Given the description of an element on the screen output the (x, y) to click on. 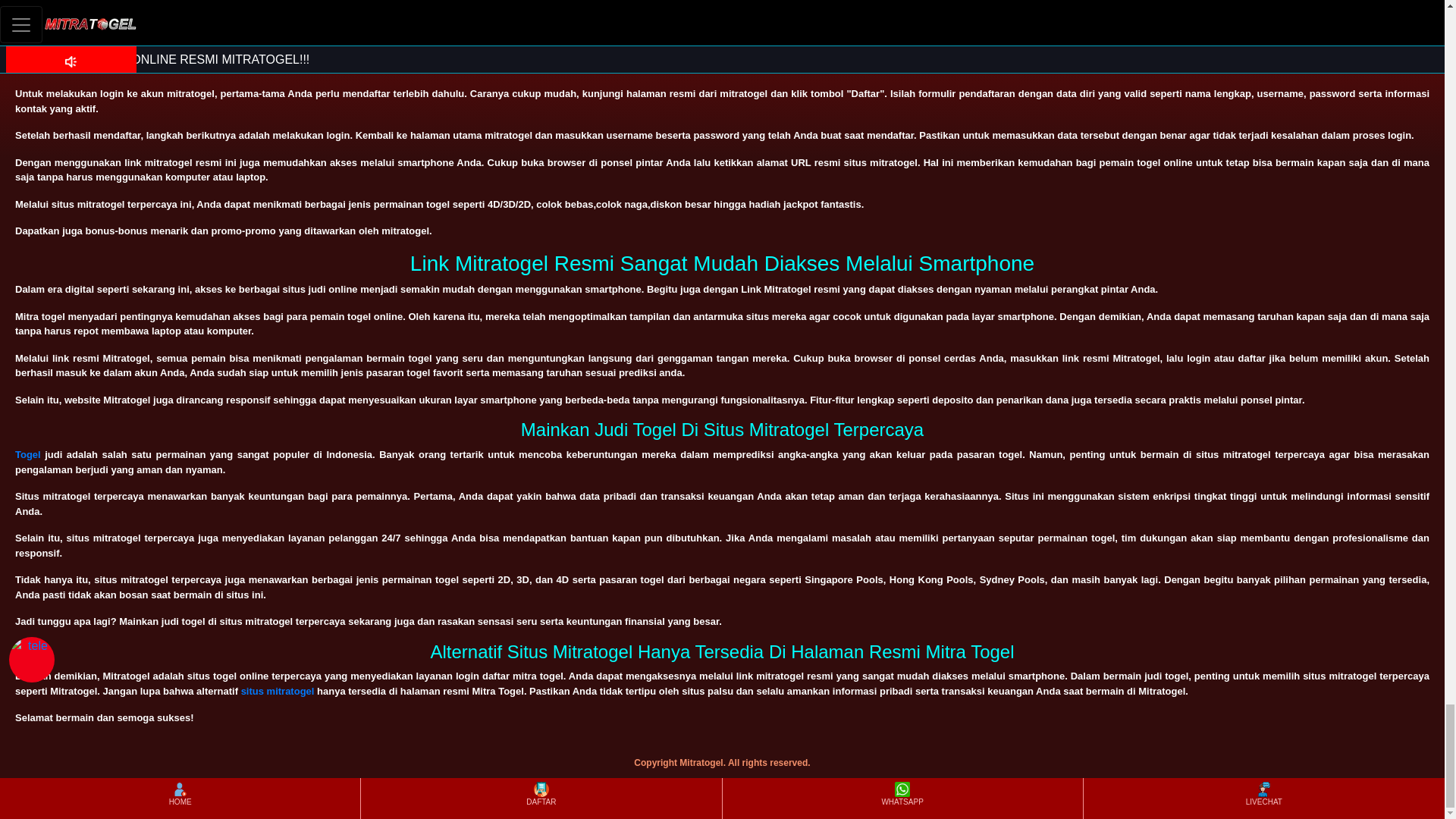
situs mitratogel (277, 690)
Togel (27, 454)
link mitratogel (719, 66)
